Given the description of an element on the screen output the (x, y) to click on. 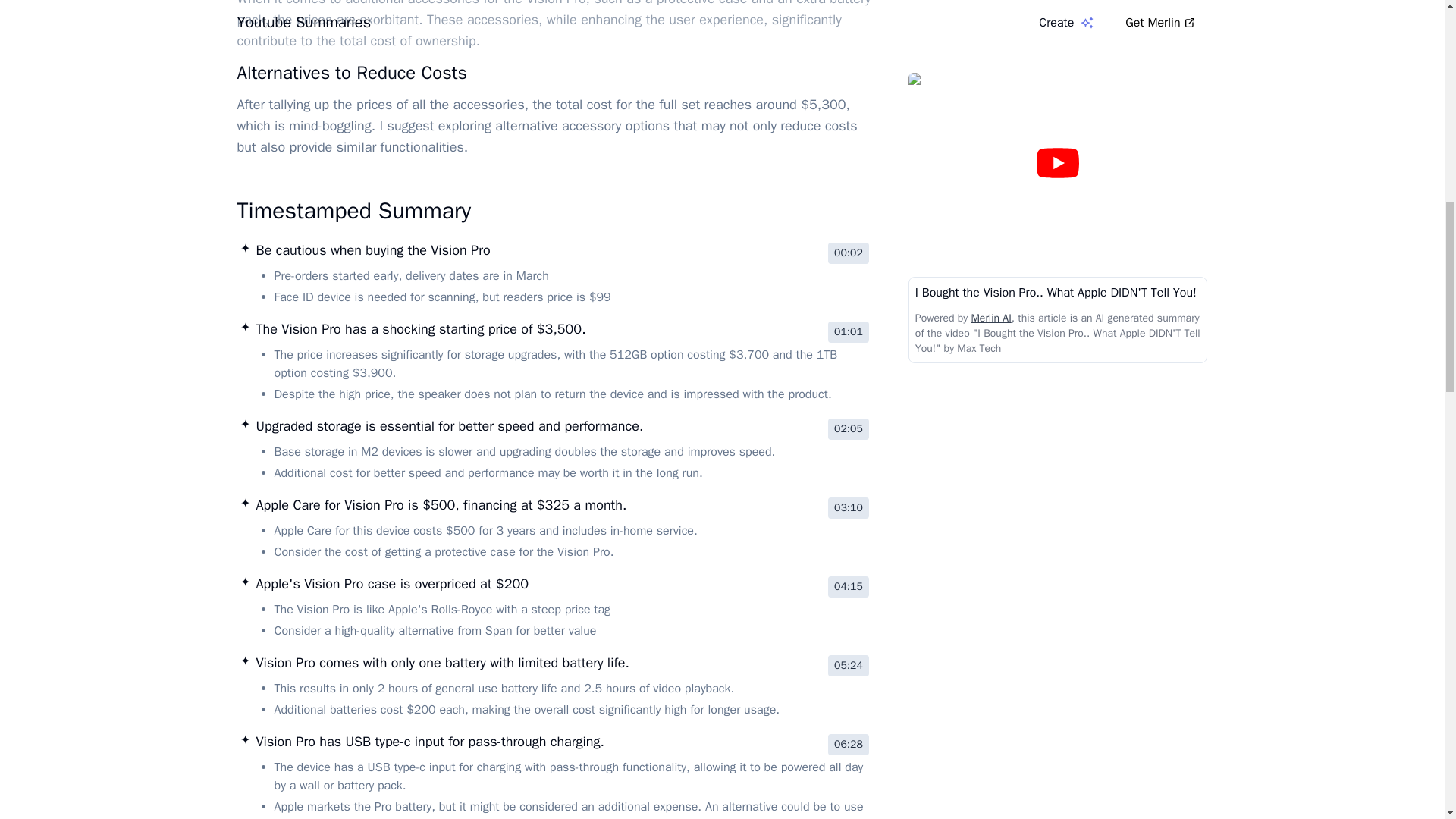
01:01 (848, 332)
03:10 (848, 507)
05:24 (848, 665)
04:15 (848, 586)
02:05 (848, 428)
00:02 (848, 252)
06:28 (848, 744)
